Given the description of an element on the screen output the (x, y) to click on. 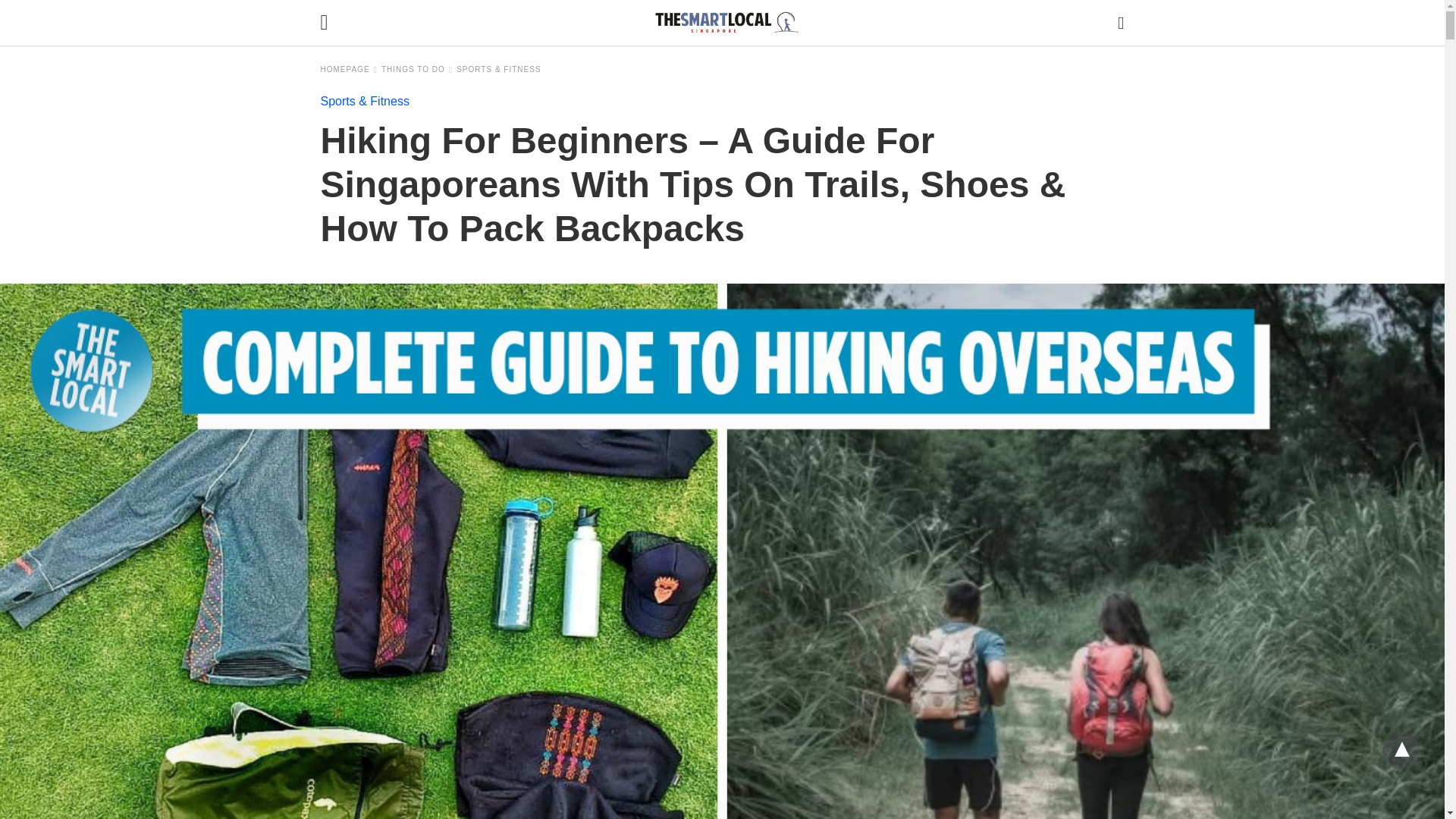
Things To Do (416, 69)
Homepage (348, 69)
